Given the description of an element on the screen output the (x, y) to click on. 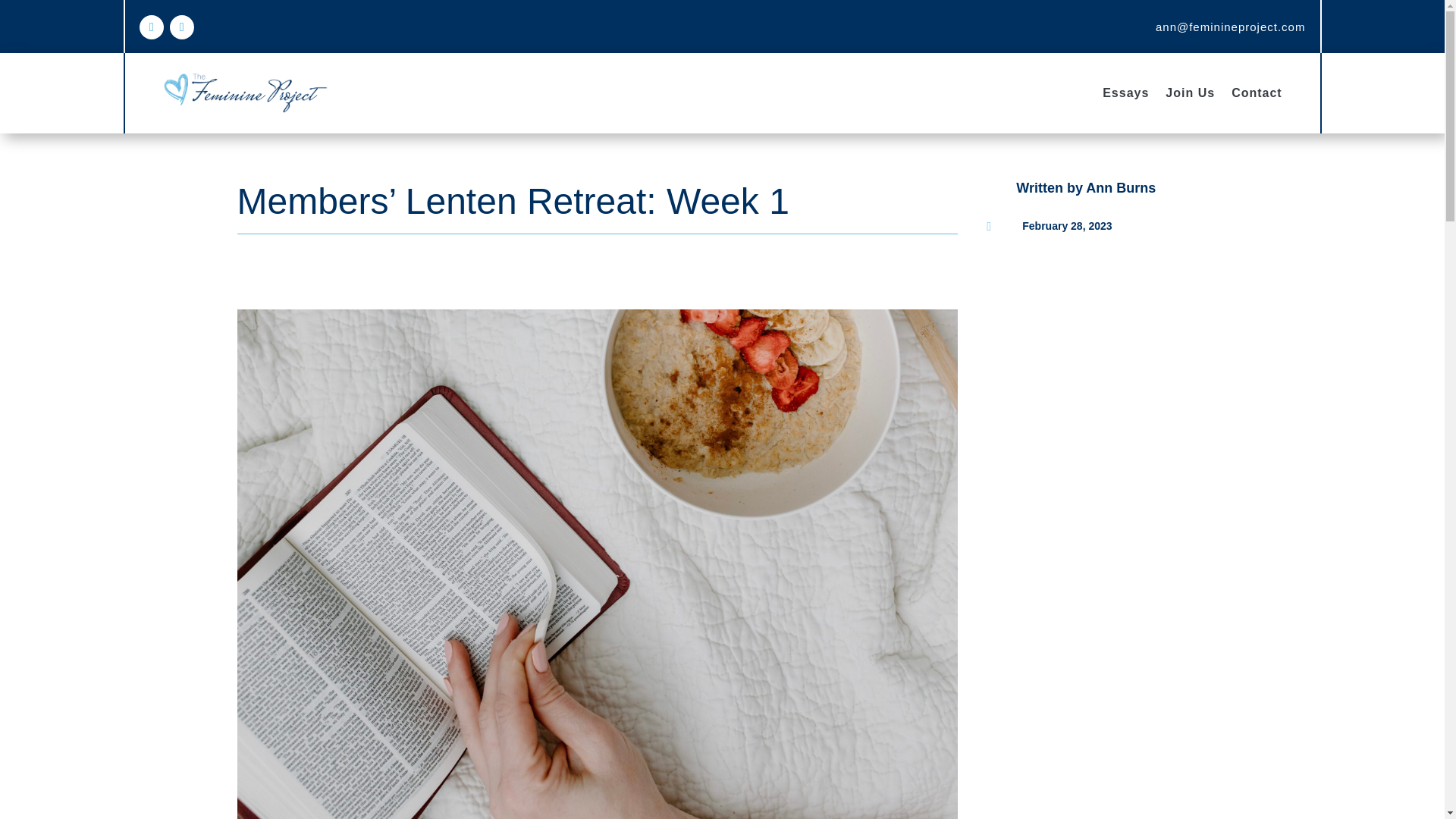
Ann Burns (1121, 187)
Follow on Facebook (151, 27)
Follow on Instagram (181, 27)
